Given the description of an element on the screen output the (x, y) to click on. 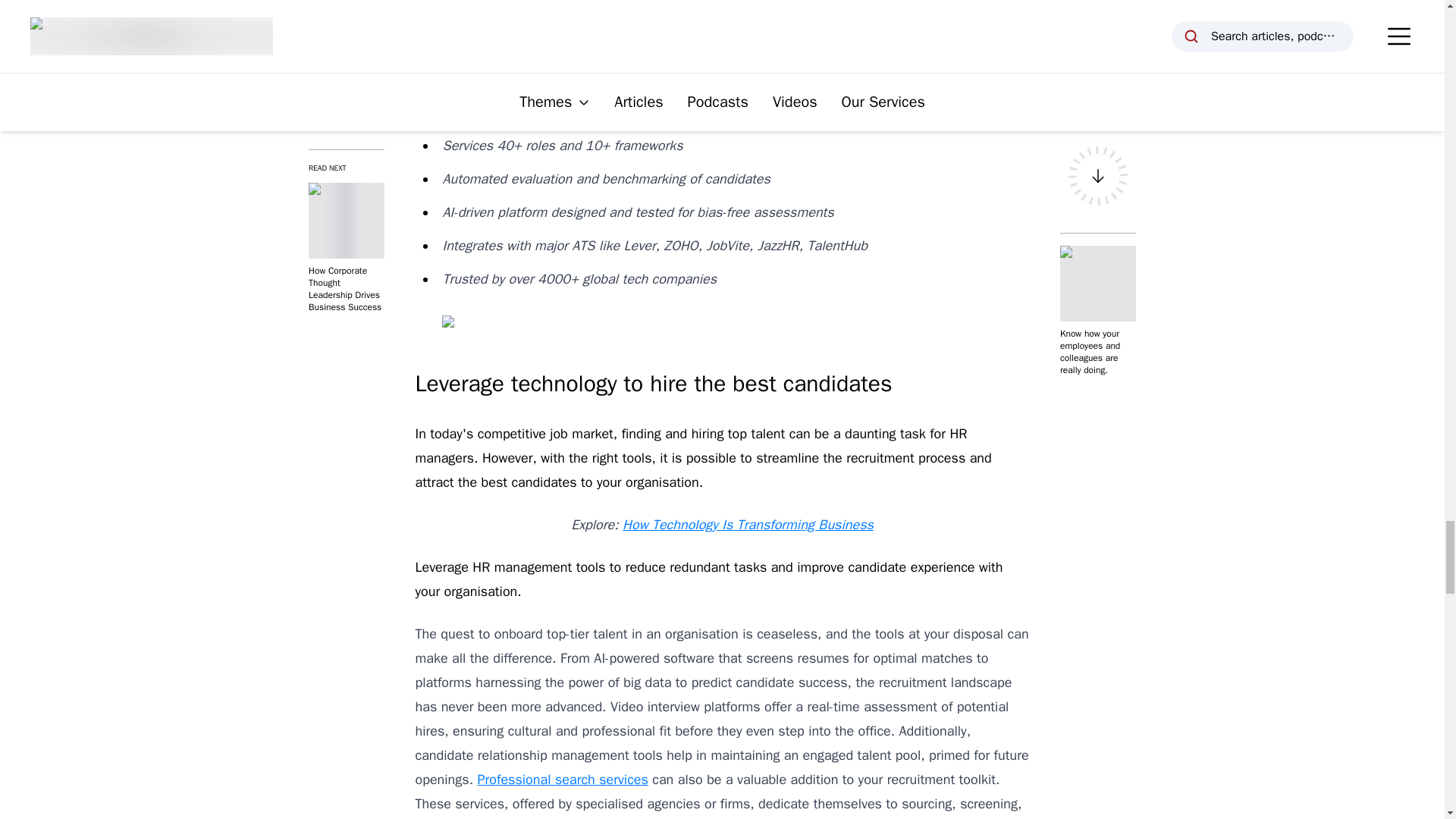
Professional search services (562, 779)
How Technology Is Transforming Business (748, 524)
